Given the description of an element on the screen output the (x, y) to click on. 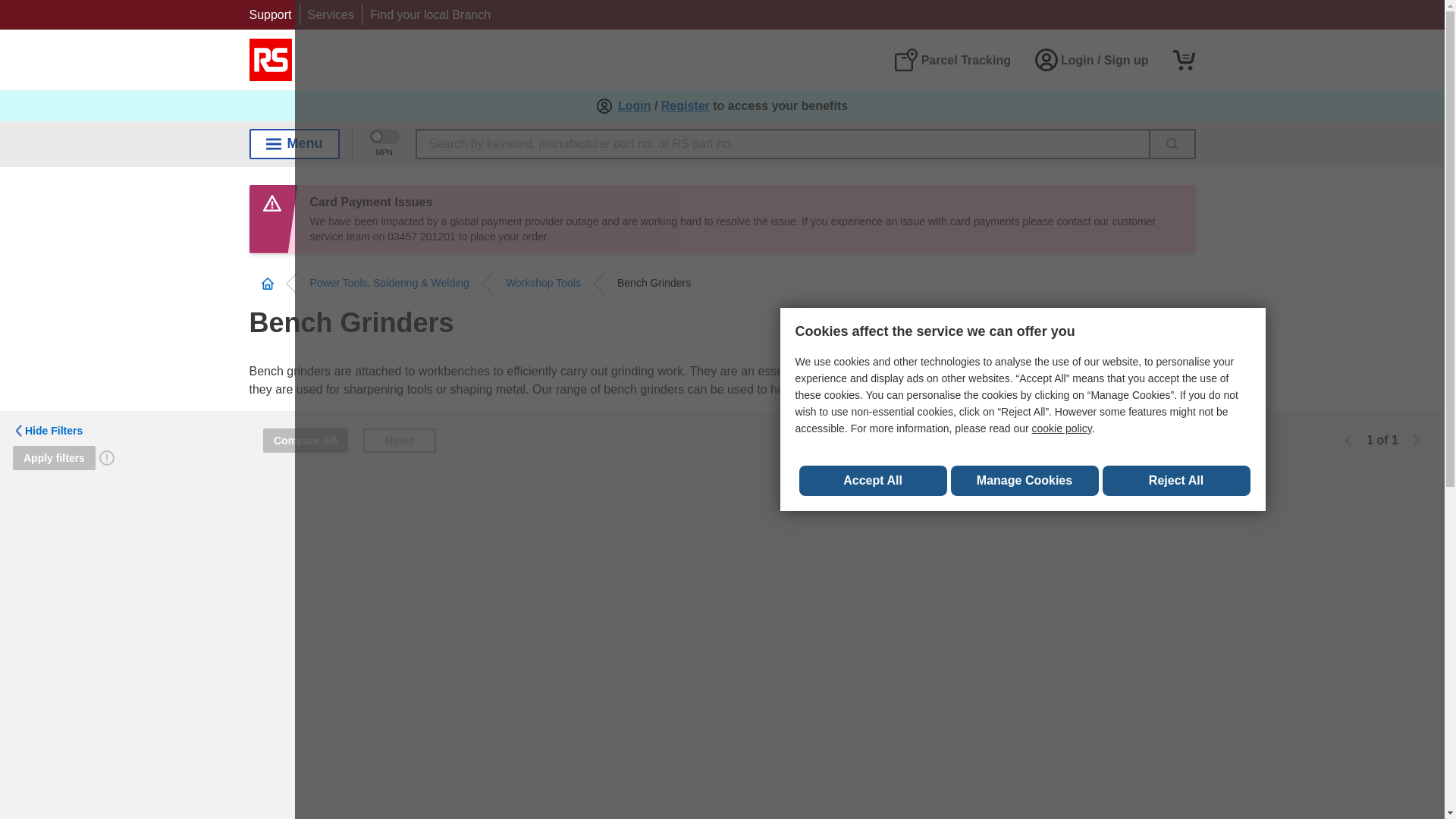
Login (633, 105)
Menu (293, 143)
Services (330, 14)
Find your local Branch (429, 14)
Support (269, 14)
Parcel Tracking (951, 59)
Register (685, 105)
